Given the description of an element on the screen output the (x, y) to click on. 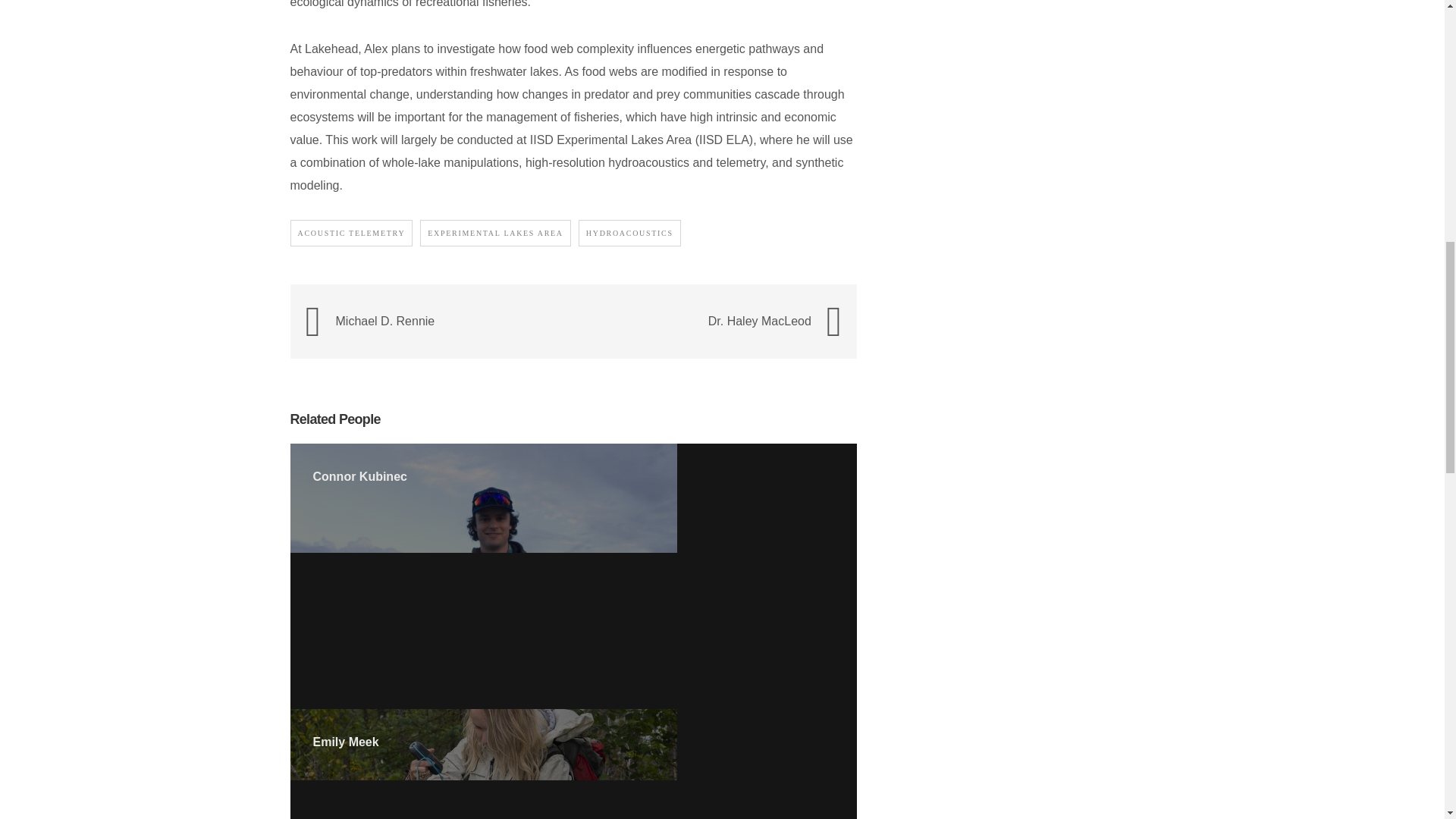
Connor Kubinec (359, 476)
ACOUSTIC TELEMETRY (350, 233)
HYDROACOUSTICS (629, 233)
EXPERIMENTAL LAKES AREA (495, 233)
Michael D. Rennie (455, 321)
Emily Meek (345, 741)
Dr. Haley MacLeod (689, 321)
